Given the description of an element on the screen output the (x, y) to click on. 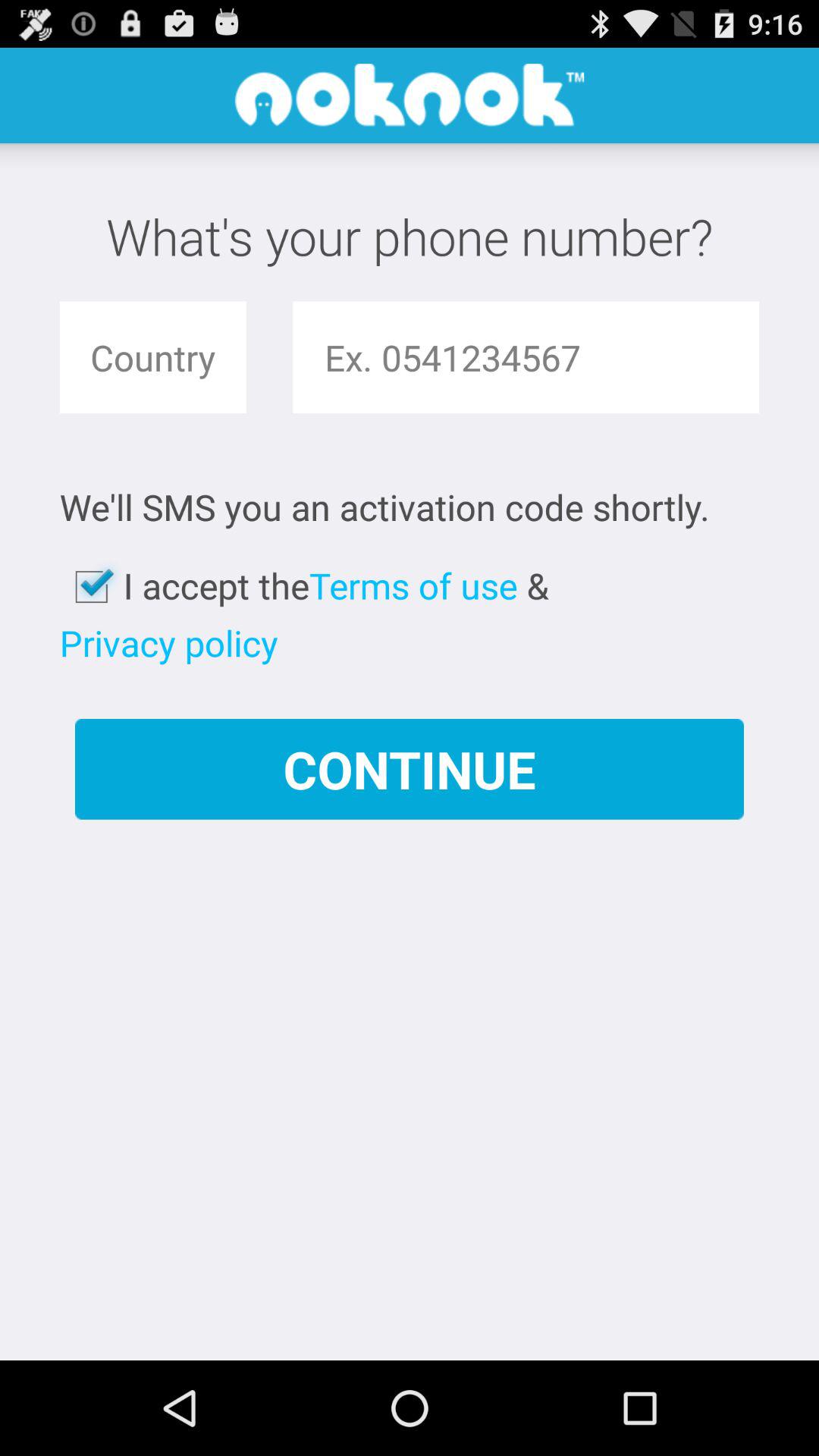
open the item above the continue app (168, 642)
